Given the description of an element on the screen output the (x, y) to click on. 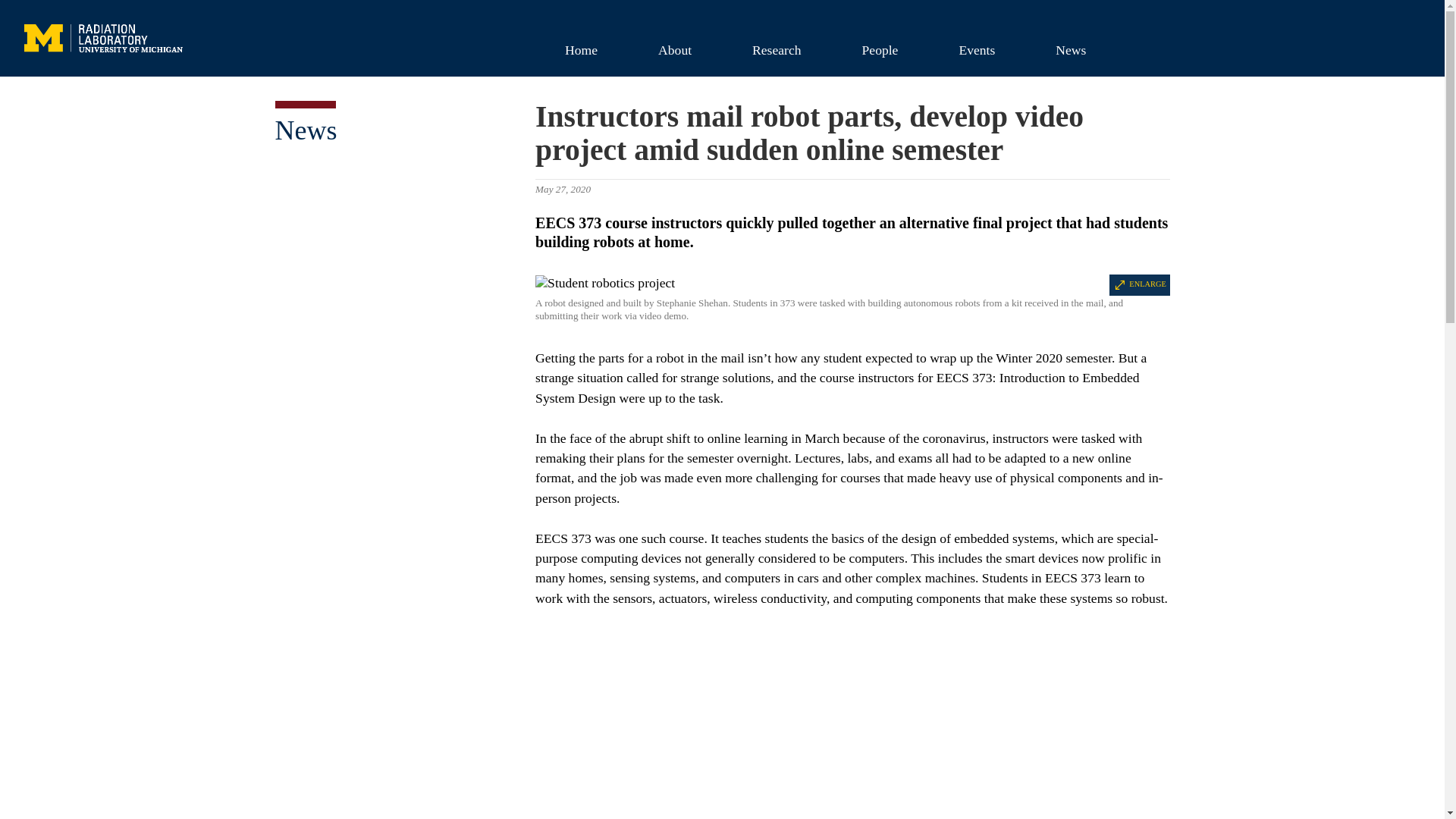
Home (581, 49)
People (880, 49)
Research (775, 49)
About (674, 49)
Events (976, 49)
Getting a final robotics project in the mail (852, 723)
News (1070, 49)
News (305, 130)
